Given the description of an element on the screen output the (x, y) to click on. 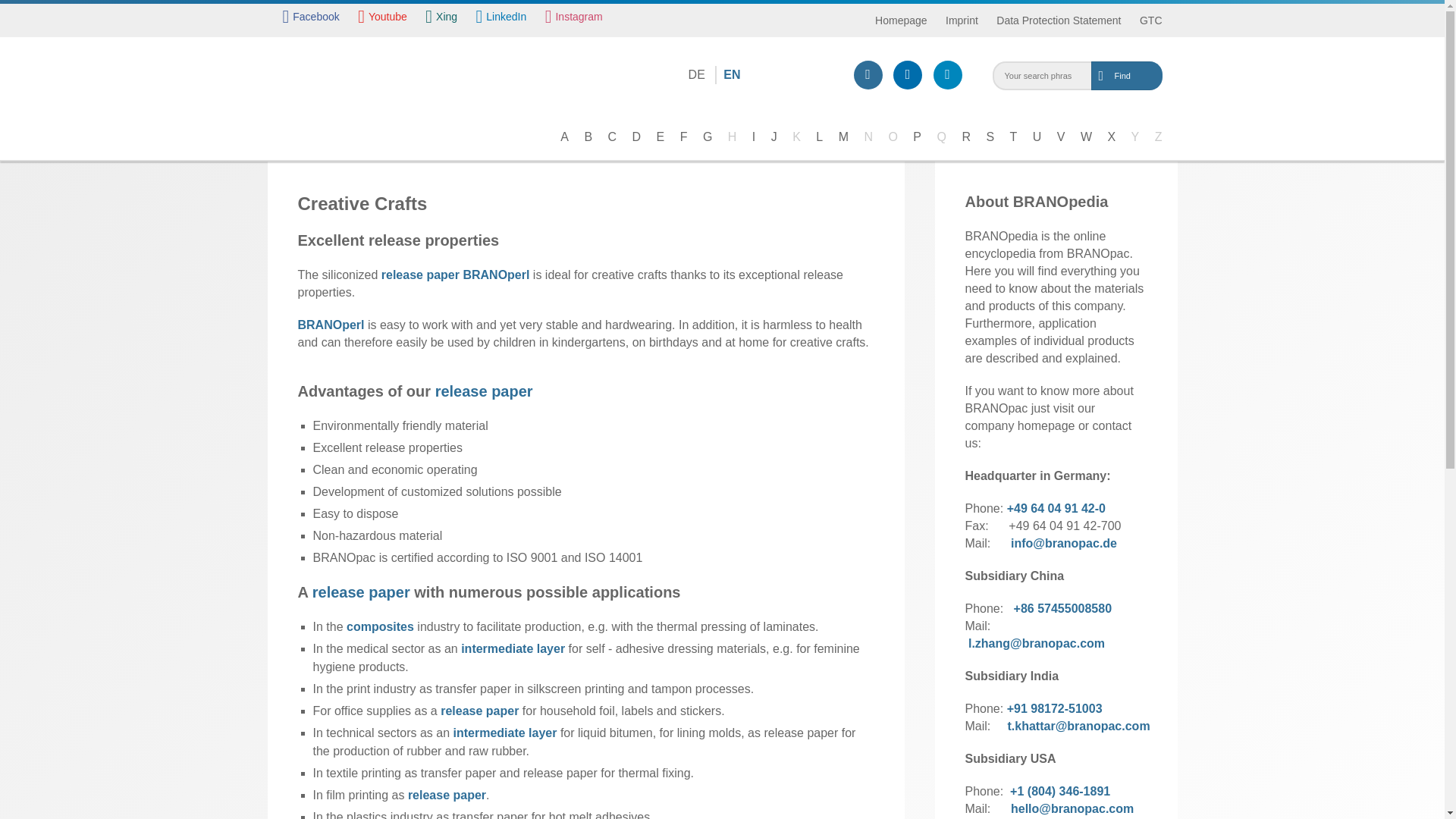
LinkedIn (501, 20)
BRANOpedia (352, 62)
Data Protection Statement (1058, 20)
Siliconized Release Paper BRANOperl (483, 391)
Contact us via E-Mail (907, 74)
Siliconized Release Paper BRANOperl (361, 591)
Contact us via phone (867, 74)
Youtube (382, 20)
Find (1154, 75)
Imprint (961, 20)
We will call you back (946, 74)
Find (1154, 75)
Composites (379, 626)
Homepage (901, 20)
Data Protection Statement (1058, 20)
